Given the description of an element on the screen output the (x, y) to click on. 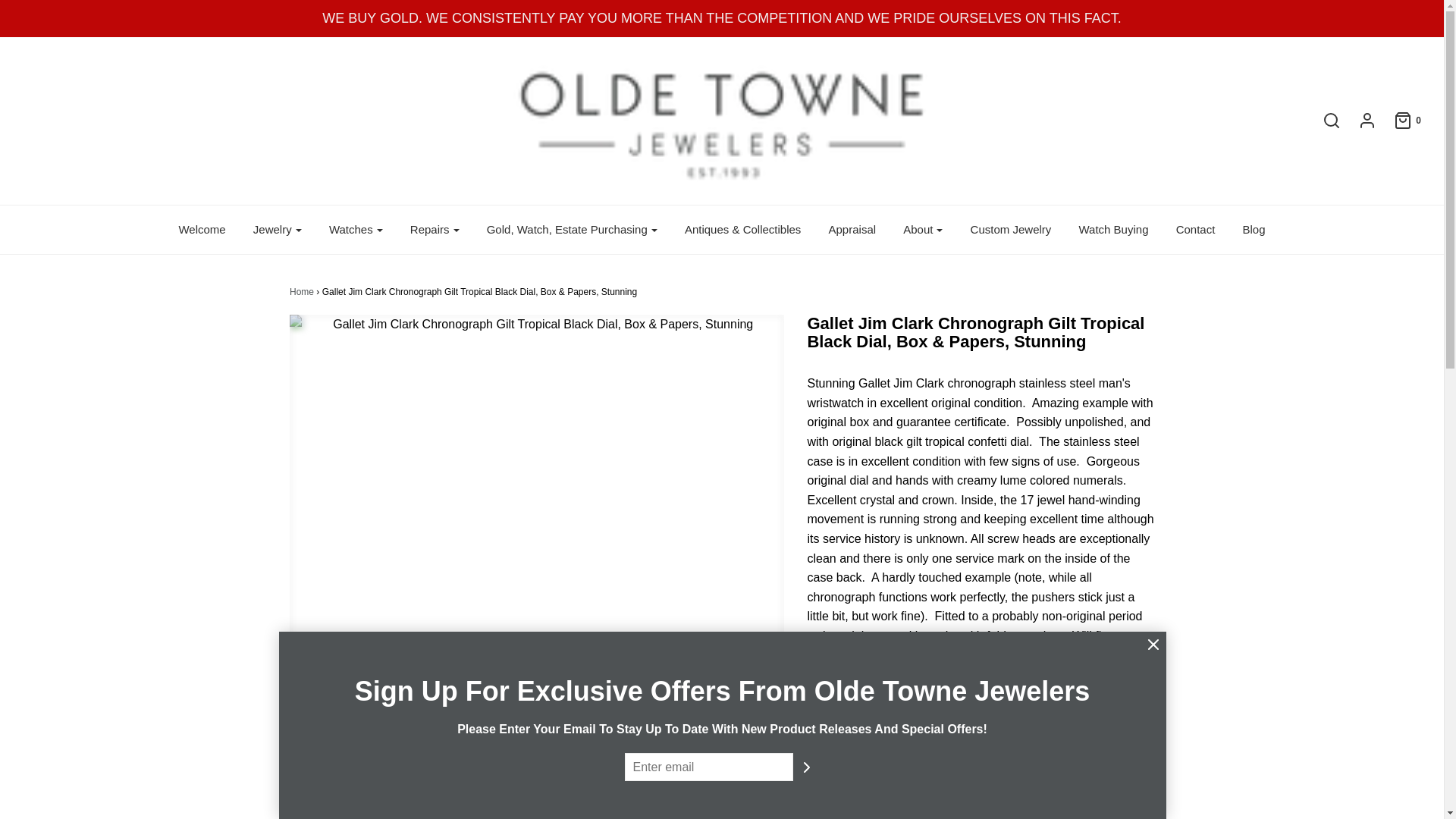
Back to the frontpage (301, 291)
Cart (1399, 120)
Search (1323, 120)
Search (1101, 5)
Log in (1358, 120)
